Given the description of an element on the screen output the (x, y) to click on. 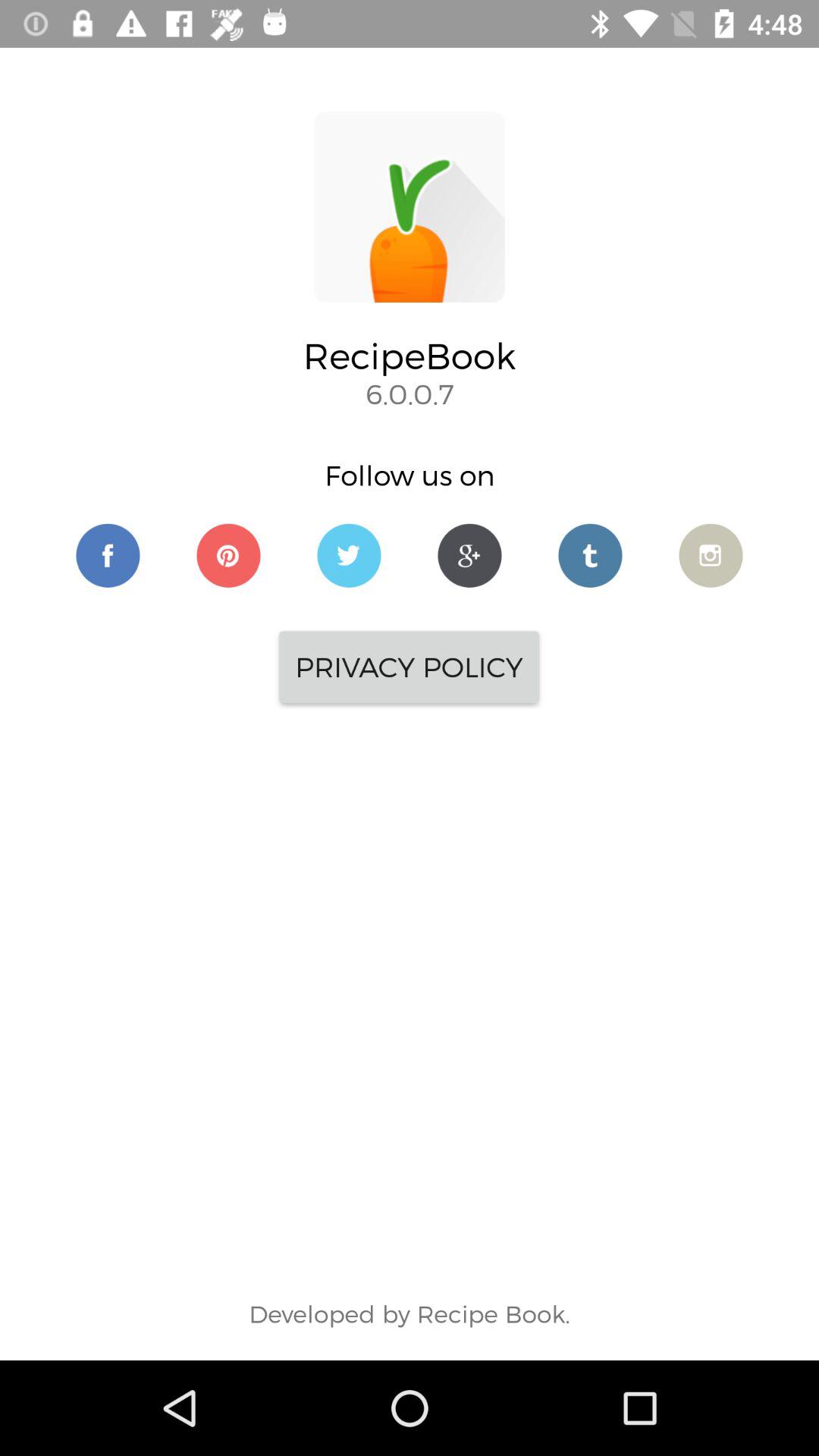
share to instagram (710, 555)
